Given the description of an element on the screen output the (x, y) to click on. 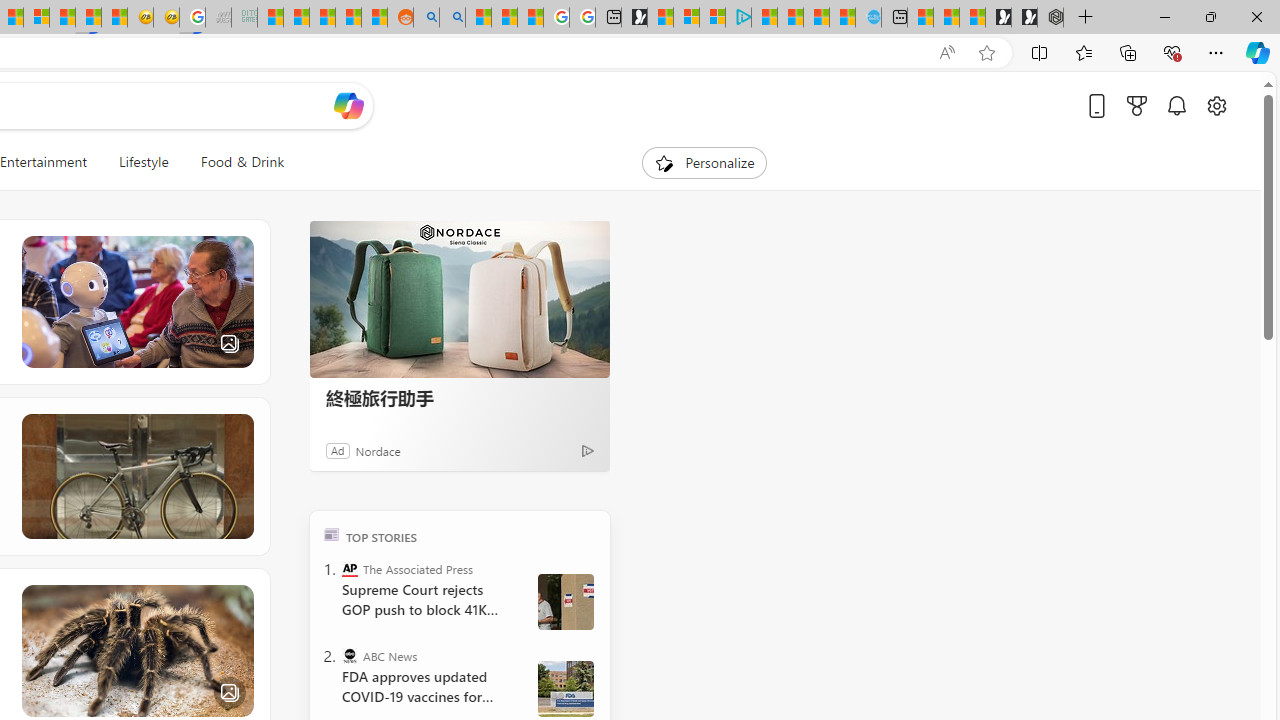
Utah sues federal government - Search (452, 17)
